Given the description of an element on the screen output the (x, y) to click on. 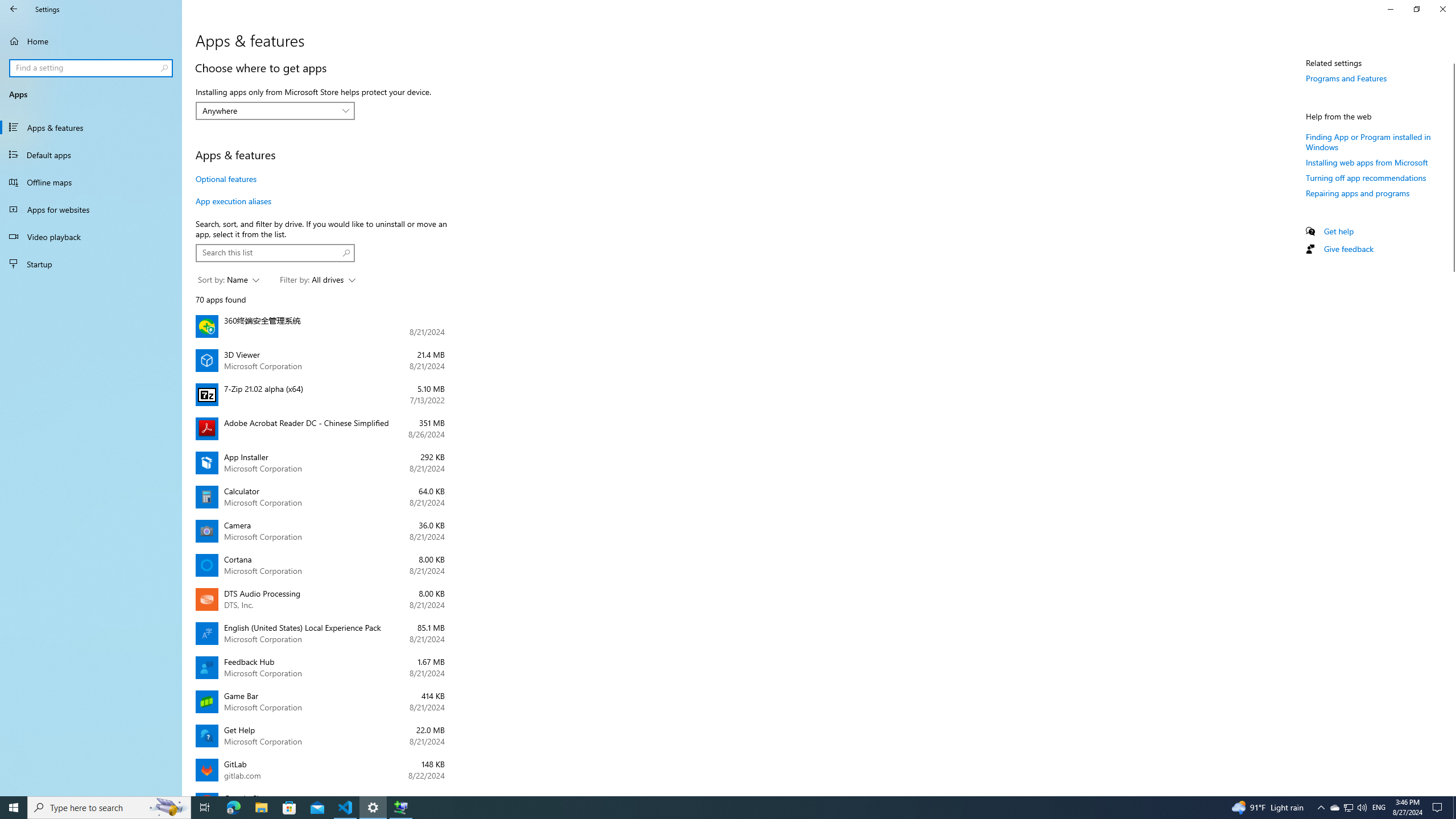
Startup (91, 263)
Get help (1338, 231)
Filter by: All drives (318, 280)
Installing web apps from Microsoft (1367, 162)
Extensible Wizards Host Process - 1 running window (400, 807)
Search box, Find a setting (91, 67)
User Promoted Notification Area (1347, 807)
File Explorer (1347, 807)
Programs and Features (261, 807)
Give feedback (1346, 77)
